Given the description of an element on the screen output the (x, y) to click on. 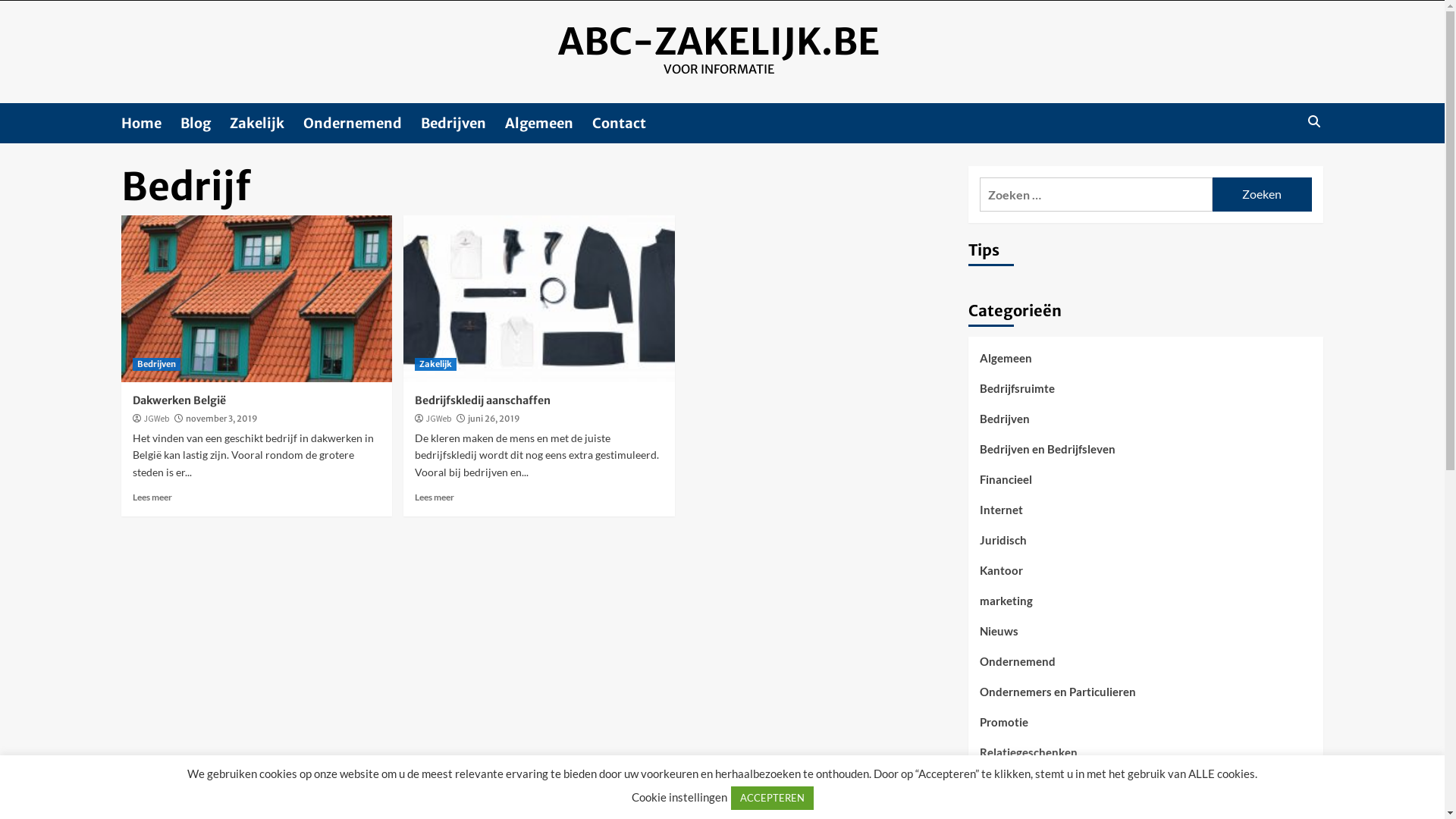
Bedrijfsruimte Element type: text (1016, 393)
Contact Element type: text (628, 123)
Financieel Element type: text (1005, 484)
Zakelijk Element type: text (435, 363)
Lees meer Element type: text (434, 496)
juni 26, 2019 Element type: text (493, 418)
Nieuws Element type: text (998, 636)
Relatiegeschenken Element type: text (1028, 757)
telefonie Element type: text (1002, 788)
Bedrijven Element type: text (1004, 424)
november 3, 2019 Element type: text (221, 418)
Ondernemend Element type: text (1017, 666)
JGWeb Element type: text (438, 418)
Search Element type: hover (1313, 121)
ACCEPTEREN Element type: text (772, 797)
Zoeken Element type: text (1261, 194)
ABC-ZAKELIJK.BE Element type: text (718, 41)
Algemeen Element type: text (1005, 363)
Ondernemers en Particulieren Element type: text (1057, 697)
Zoeken Element type: text (1278, 168)
JGWeb Element type: text (156, 418)
Promotie Element type: text (1003, 727)
Bedrijfskledij aanschaffen Element type: text (482, 400)
Bedrijven en Bedrijfsleven Element type: text (1047, 454)
Home Element type: text (150, 123)
Algemeen Element type: text (548, 123)
Cookie instellingen Element type: text (678, 796)
Bedrijven Element type: text (462, 123)
Internet Element type: text (1000, 515)
Bedrijven Element type: text (156, 363)
Ondernemend Element type: text (361, 123)
Zakelijk Element type: text (266, 123)
Blog Element type: text (204, 123)
Juridisch Element type: text (1002, 545)
Kantoor Element type: text (1000, 575)
Lees meer Element type: text (152, 496)
marketing Element type: text (1005, 606)
